Given the description of an element on the screen output the (x, y) to click on. 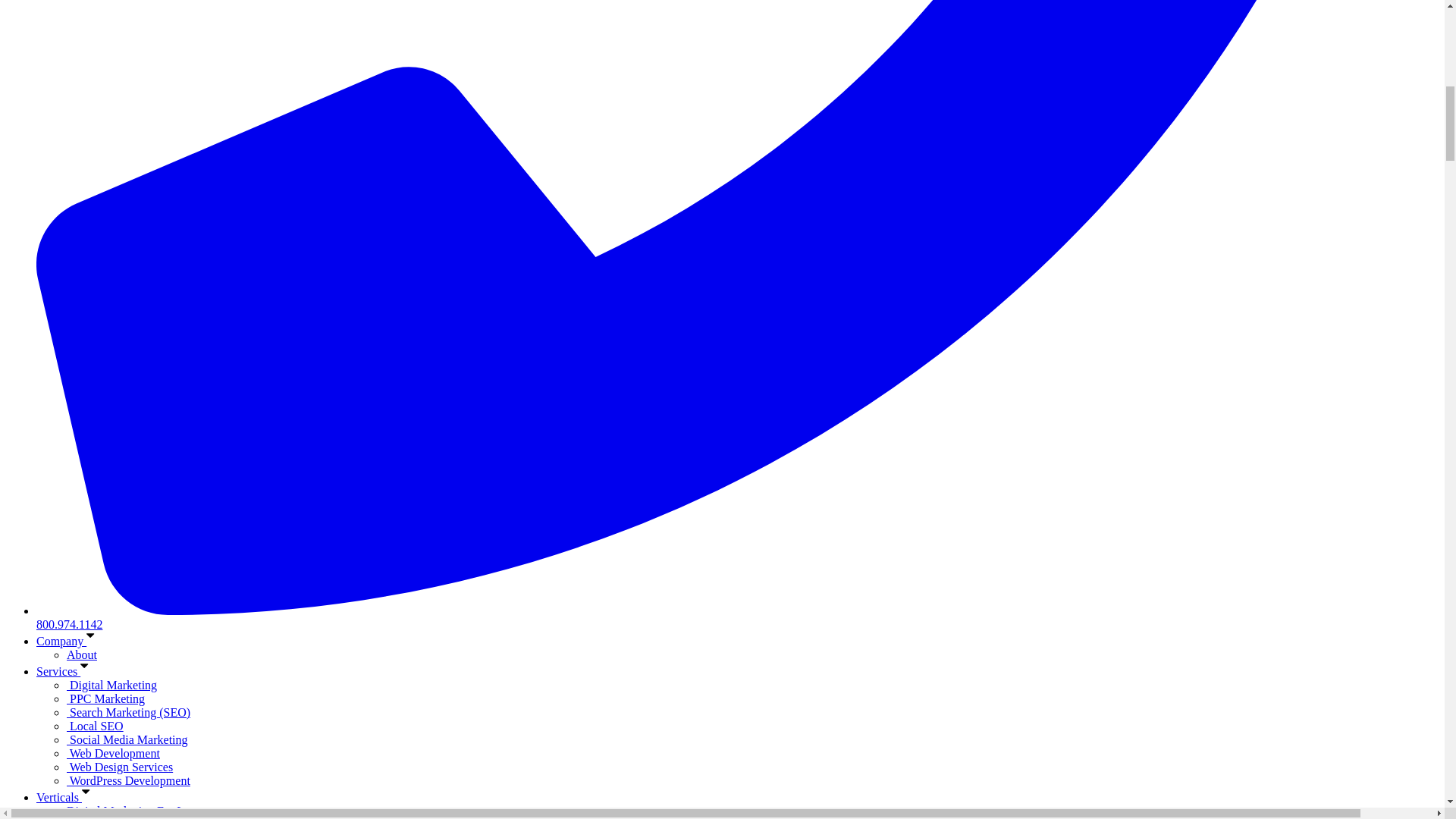
Local SEO (94, 725)
Services (65, 671)
Services (65, 671)
About (81, 654)
 PPC Marketing (105, 698)
 Digital Marketing (111, 684)
Company (68, 640)
Company (68, 640)
